Given the description of an element on the screen output the (x, y) to click on. 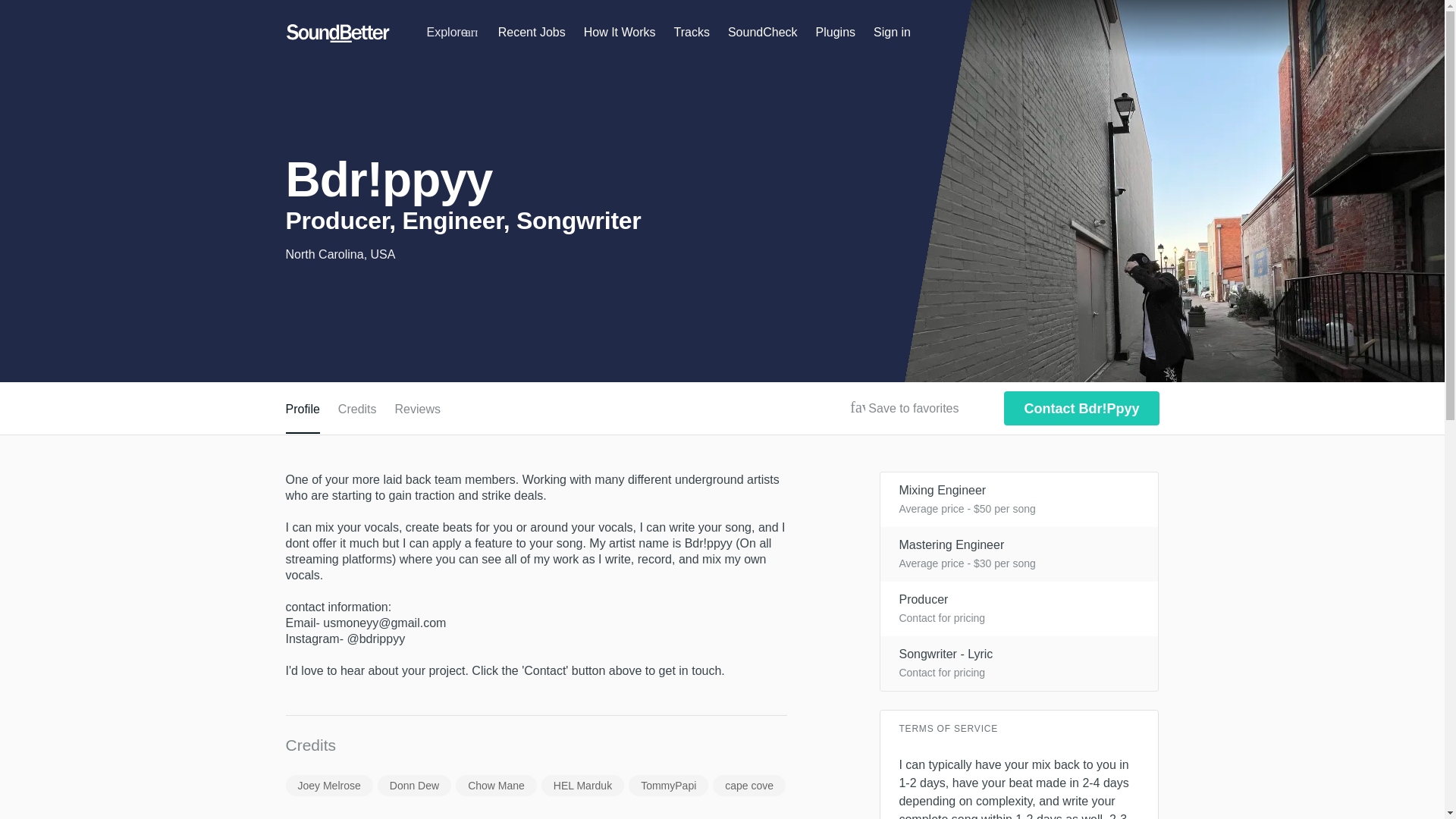
SoundBetter (337, 33)
